Given the description of an element on the screen output the (x, y) to click on. 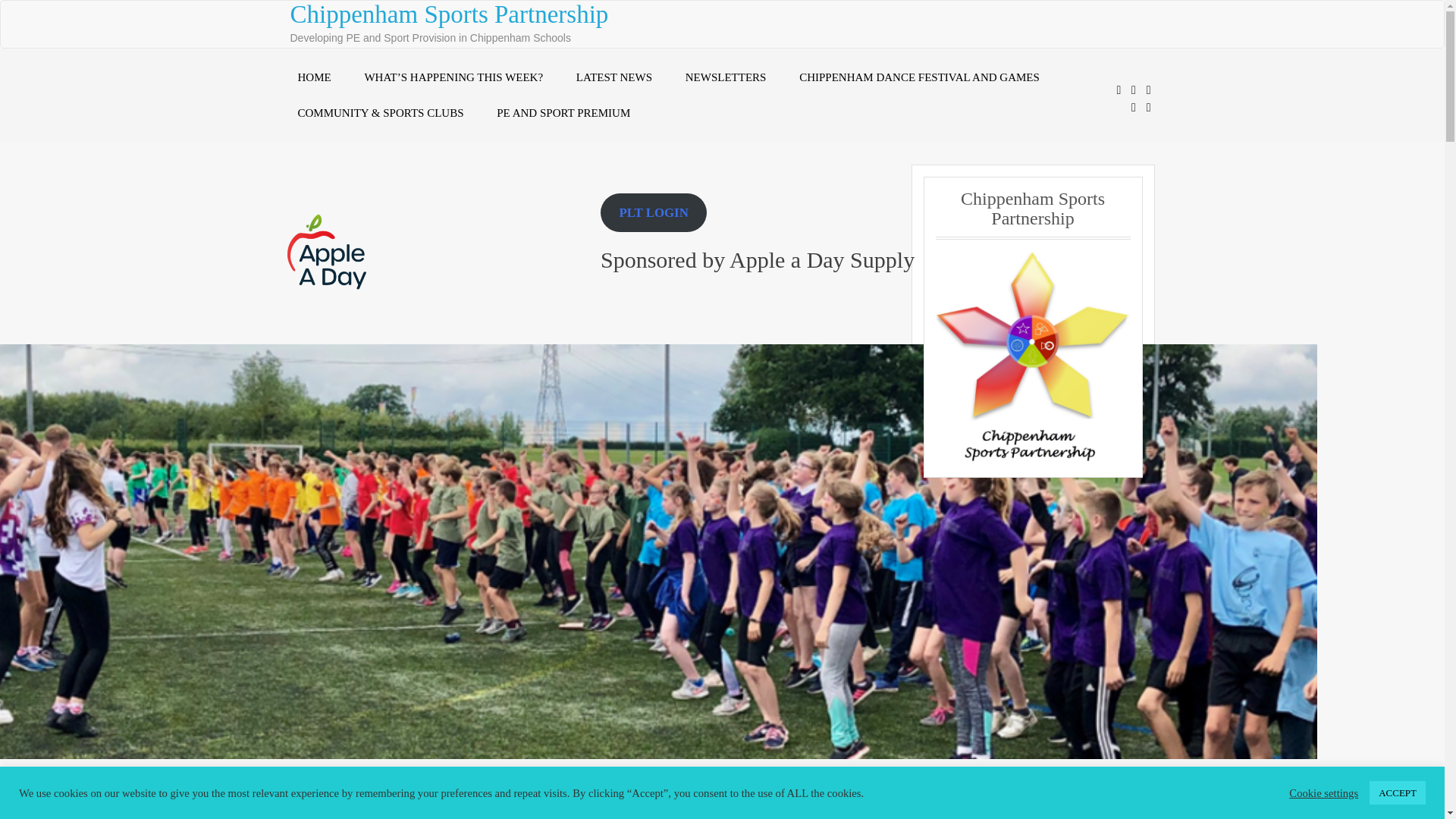
PE AND SPORT PREMIUM (563, 113)
Chippenham Sports Partnership (448, 13)
PLT LOGIN (652, 211)
CHIPPENHAM DANCE FESTIVAL AND GAMES (919, 77)
NEWSLETTERS (725, 77)
HOME (314, 77)
LATEST NEWS (613, 77)
